Given the description of an element on the screen output the (x, y) to click on. 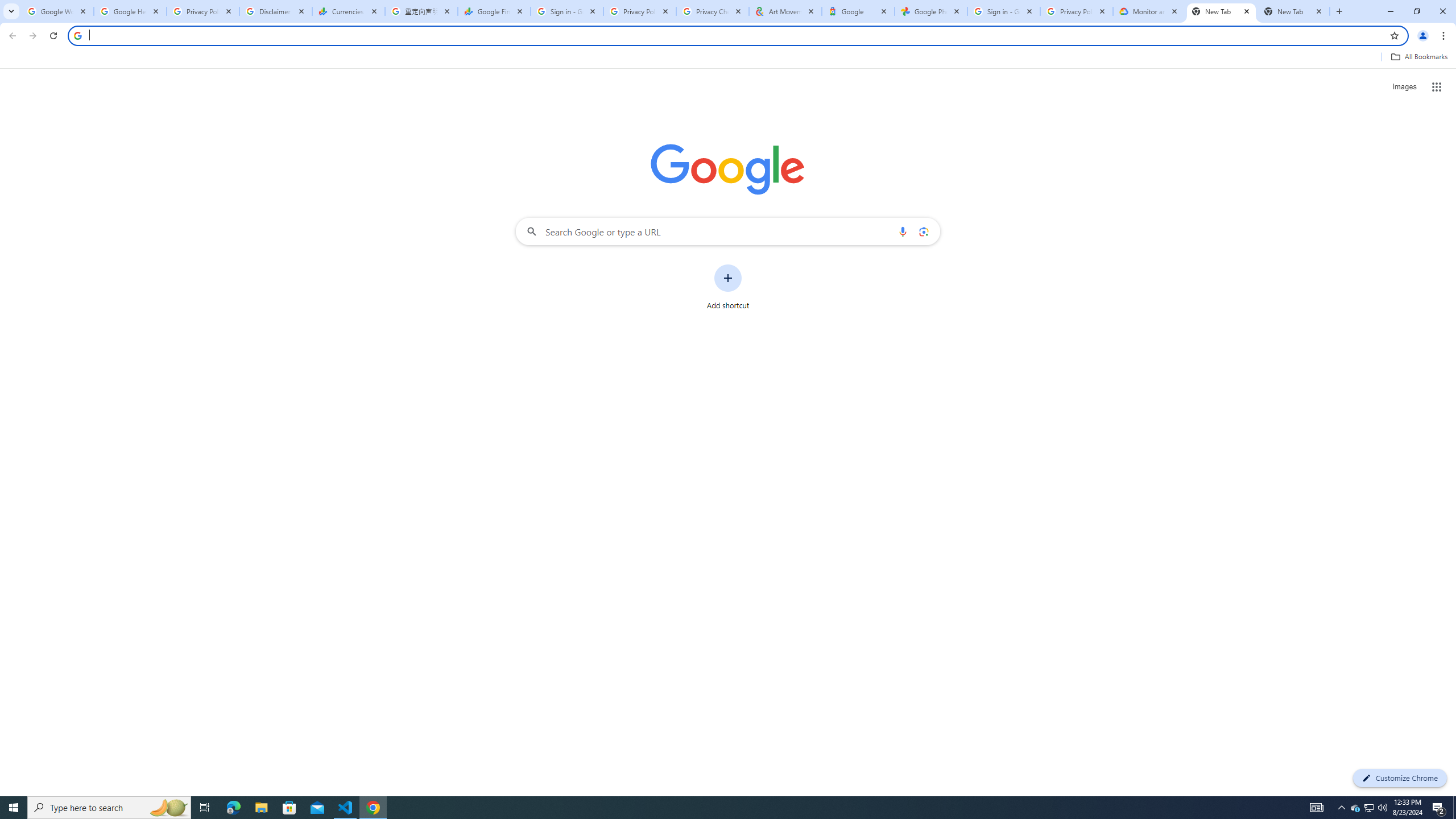
Sign in - Google Accounts (1003, 11)
Google Workspace Admin Community (57, 11)
Search Google or type a URL (727, 230)
Currencies - Google Finance (348, 11)
New Tab (1221, 11)
